Given the description of an element on the screen output the (x, y) to click on. 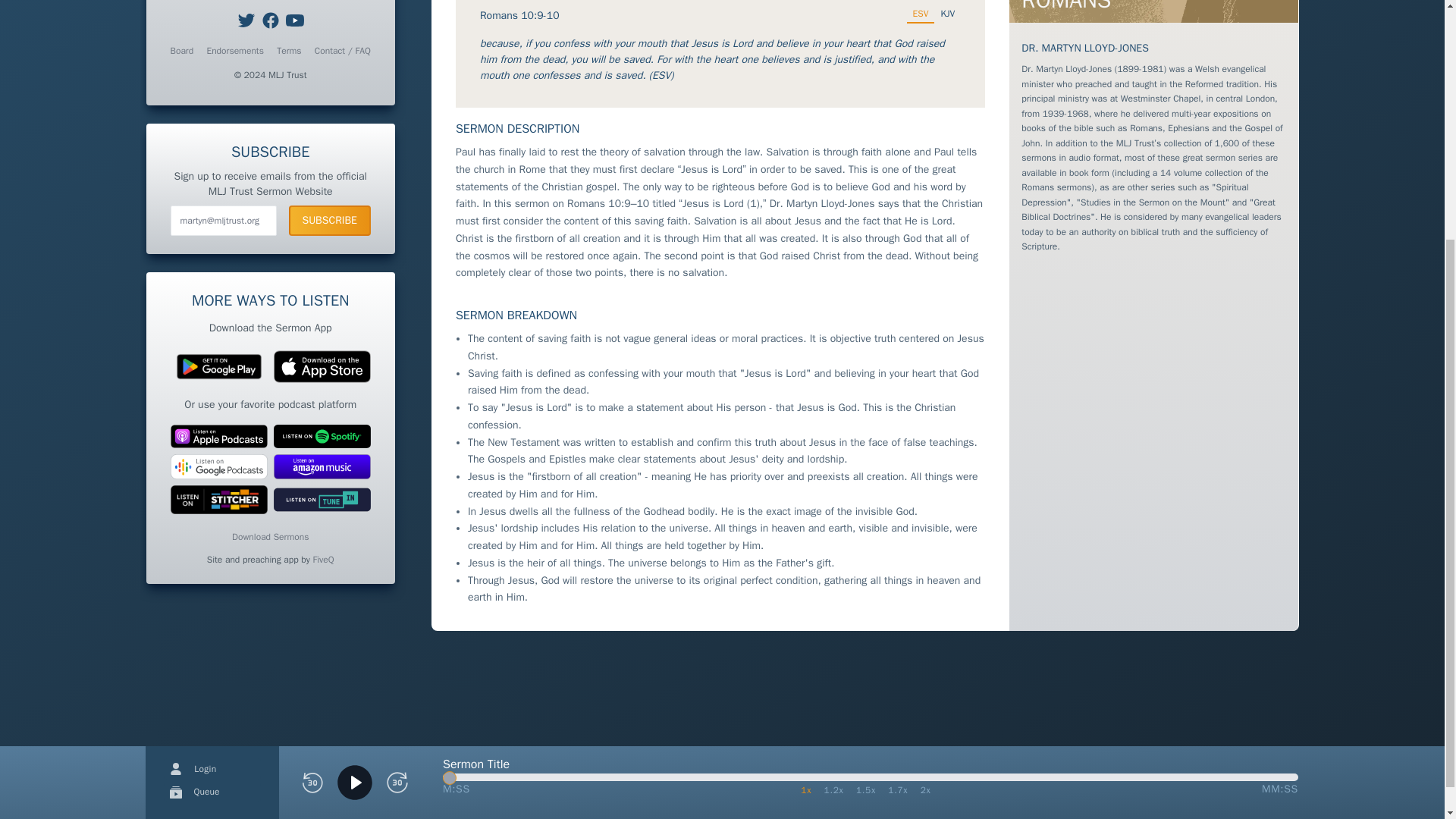
Board (181, 50)
Terms (288, 50)
Subscribe (328, 220)
MLJ Trust on YouTube (294, 20)
queue (176, 451)
MLJ Trust on Facebook (270, 20)
MLJ Trust on Twitter (246, 20)
FiveQ (323, 559)
Endorsements (234, 50)
Download Sermons (269, 536)
Sermons on Book of Romans by Dr. Martyn Lloyd-Jones (1153, 11)
Subscribe (328, 220)
